Given the description of an element on the screen output the (x, y) to click on. 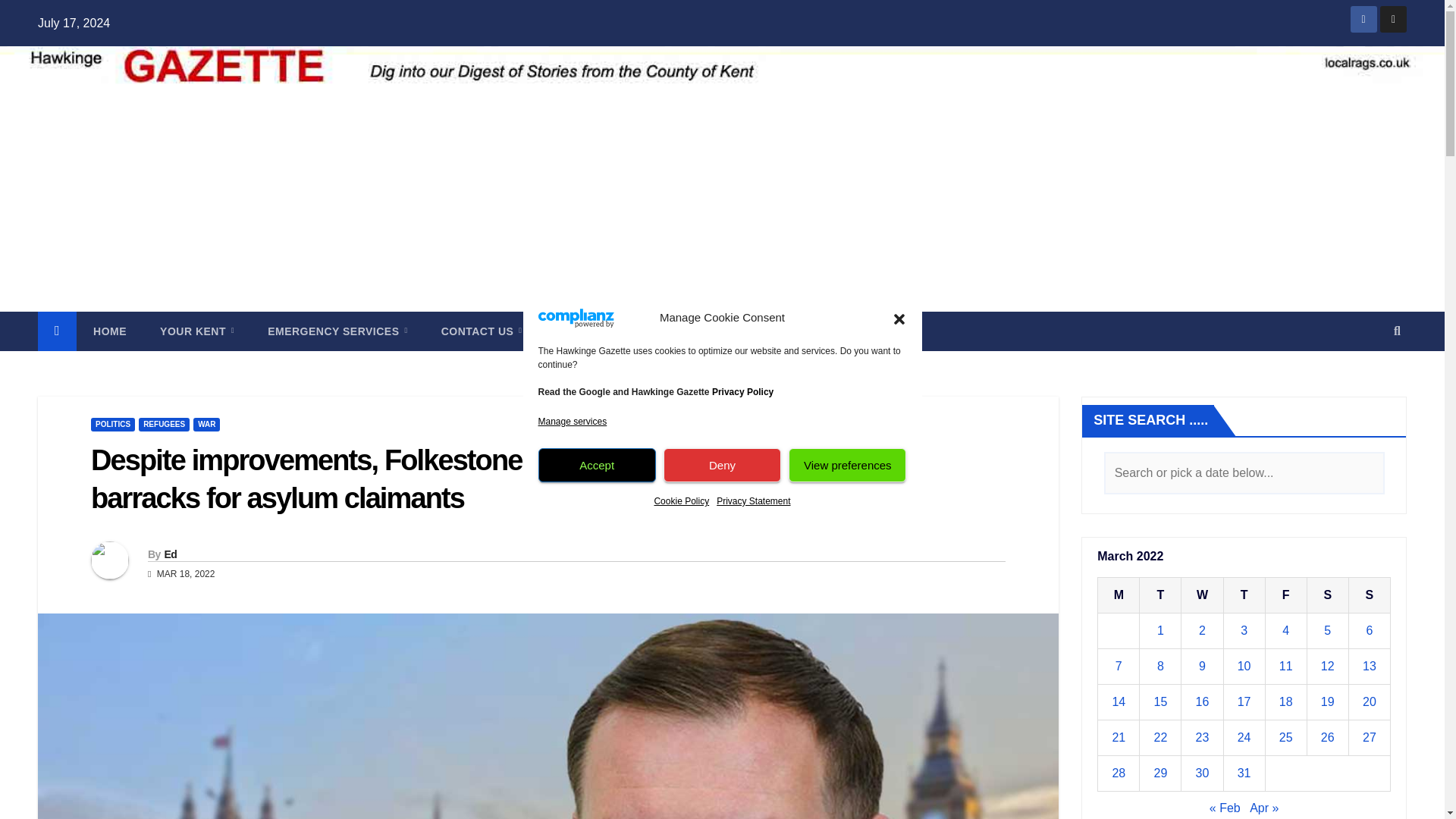
Privacy Policy (742, 391)
HOME (109, 331)
Accept (597, 464)
Deny (721, 464)
YOUR KENT (196, 331)
YOUR KENT (196, 331)
Privacy Statement (753, 500)
View preferences (847, 464)
HOME (109, 331)
Cookie Policy (681, 500)
Manage services (572, 421)
